Given the description of an element on the screen output the (x, y) to click on. 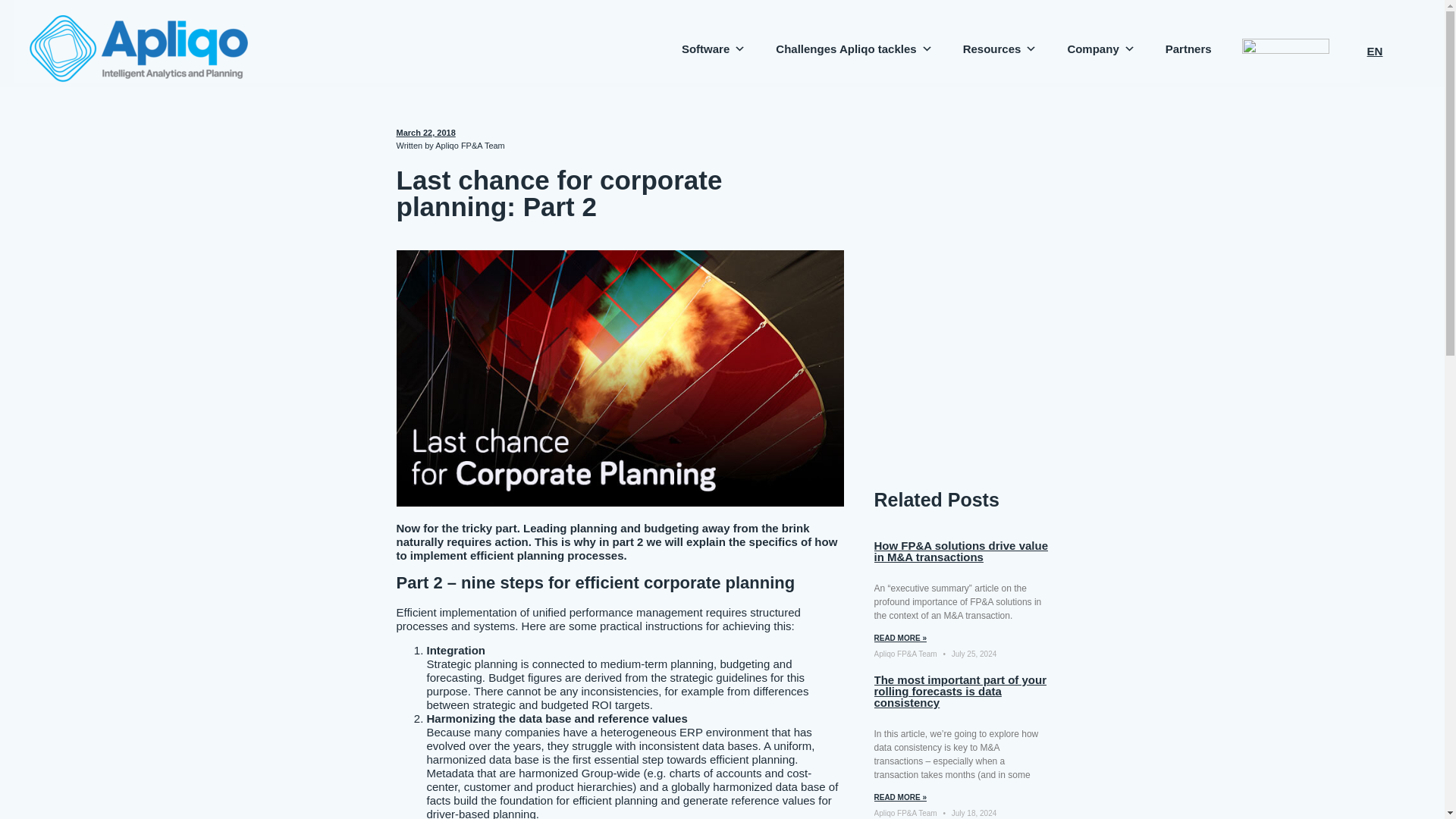
Resources (1000, 41)
Software (713, 41)
Challenges Apliqo tackles (853, 41)
